Given the description of an element on the screen output the (x, y) to click on. 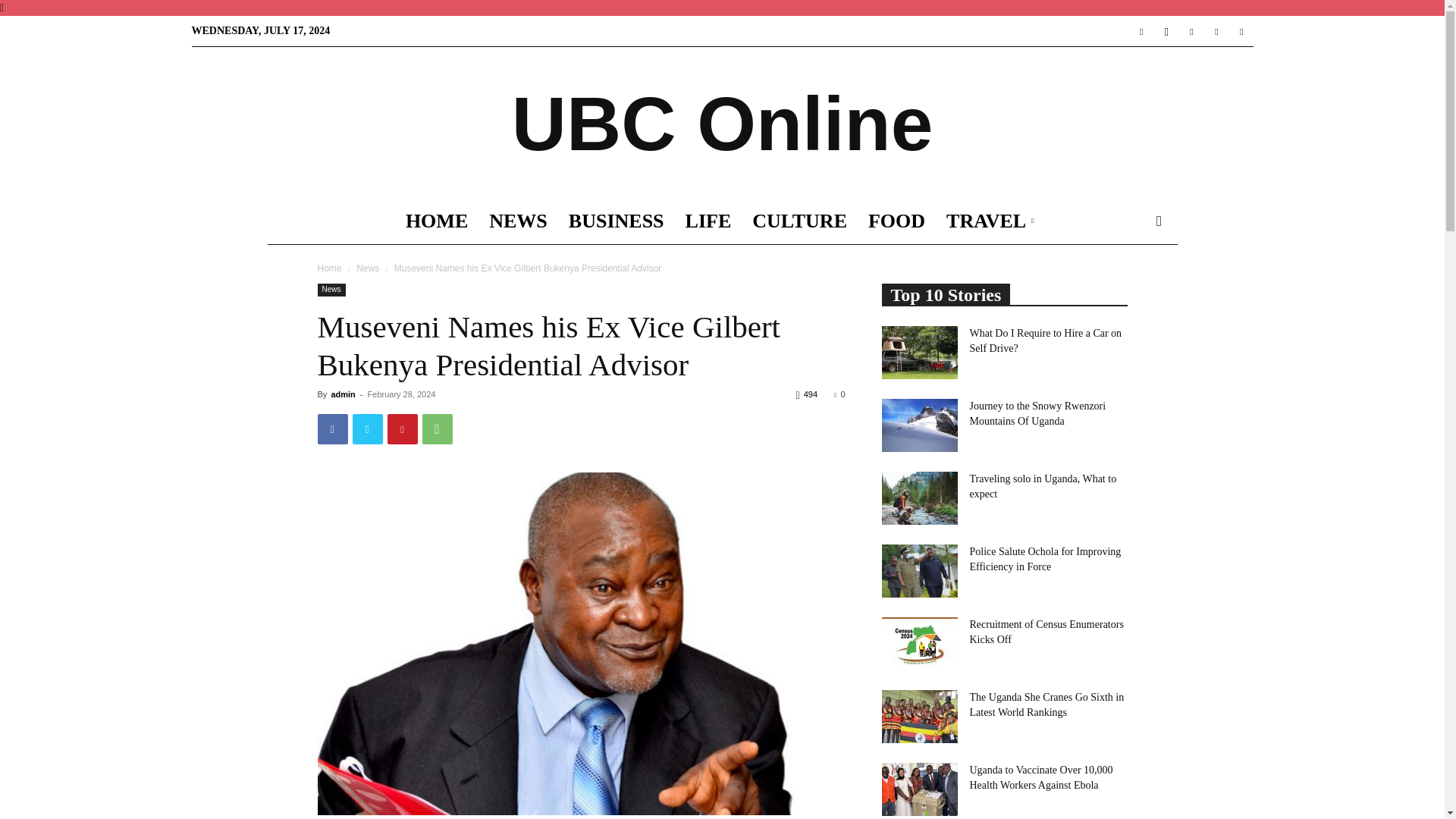
Facebook (332, 429)
CULTURE (799, 221)
Vimeo (1216, 30)
FOOD (896, 221)
BUSINESS (616, 221)
Instagram (1165, 30)
Twitter (1190, 30)
Facebook (1141, 30)
HOME (436, 221)
TRAVEL (992, 221)
NEWS (518, 221)
UBC Online (722, 123)
